Given the description of an element on the screen output the (x, y) to click on. 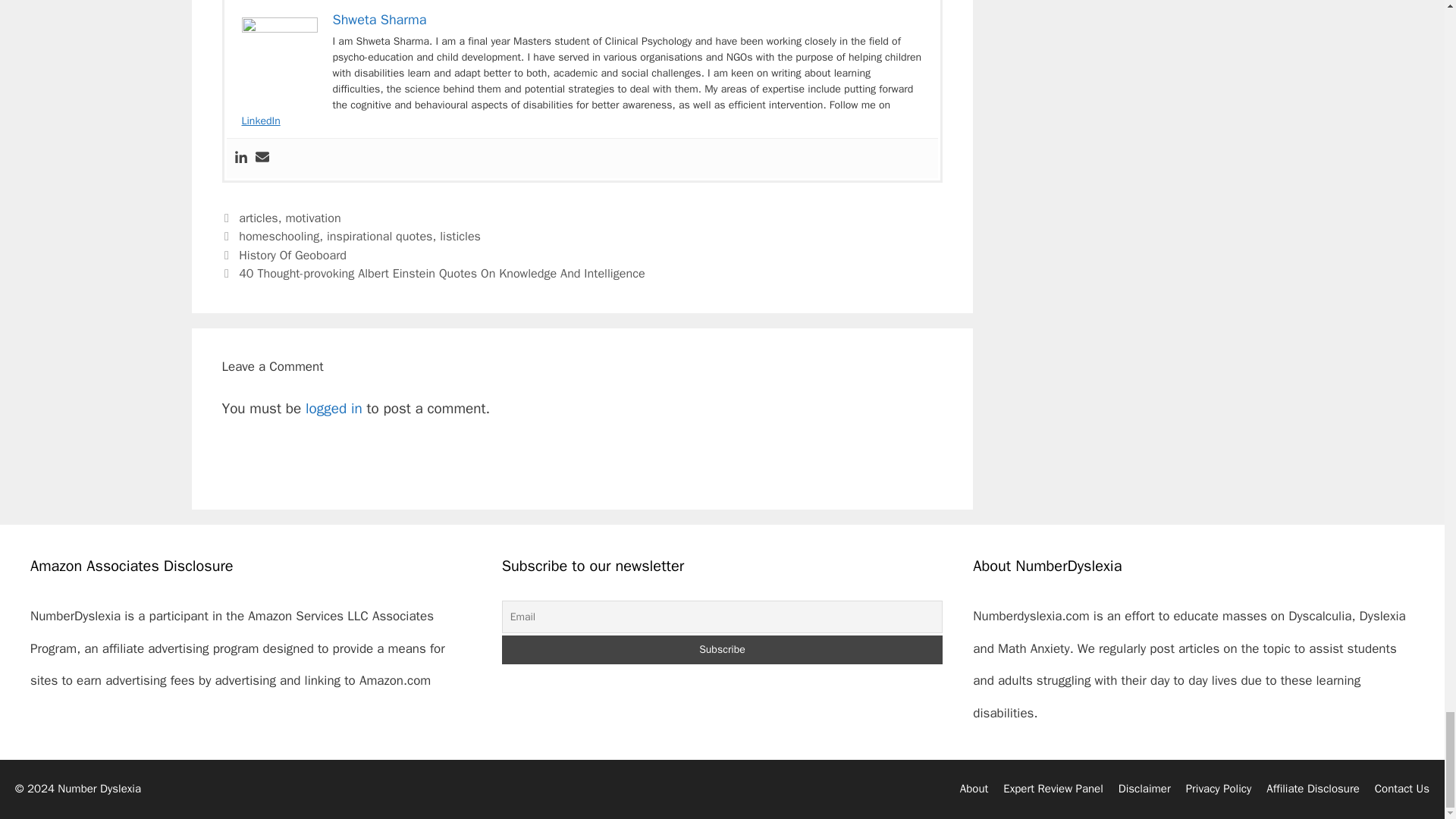
Shweta Sharma (378, 19)
LinkedIn (260, 120)
inspirational quotes (379, 236)
History Of Geoboard (292, 254)
Subscribe (722, 649)
listicles (459, 236)
articles (258, 217)
motivation (312, 217)
homeschooling (278, 236)
